Given the description of an element on the screen output the (x, y) to click on. 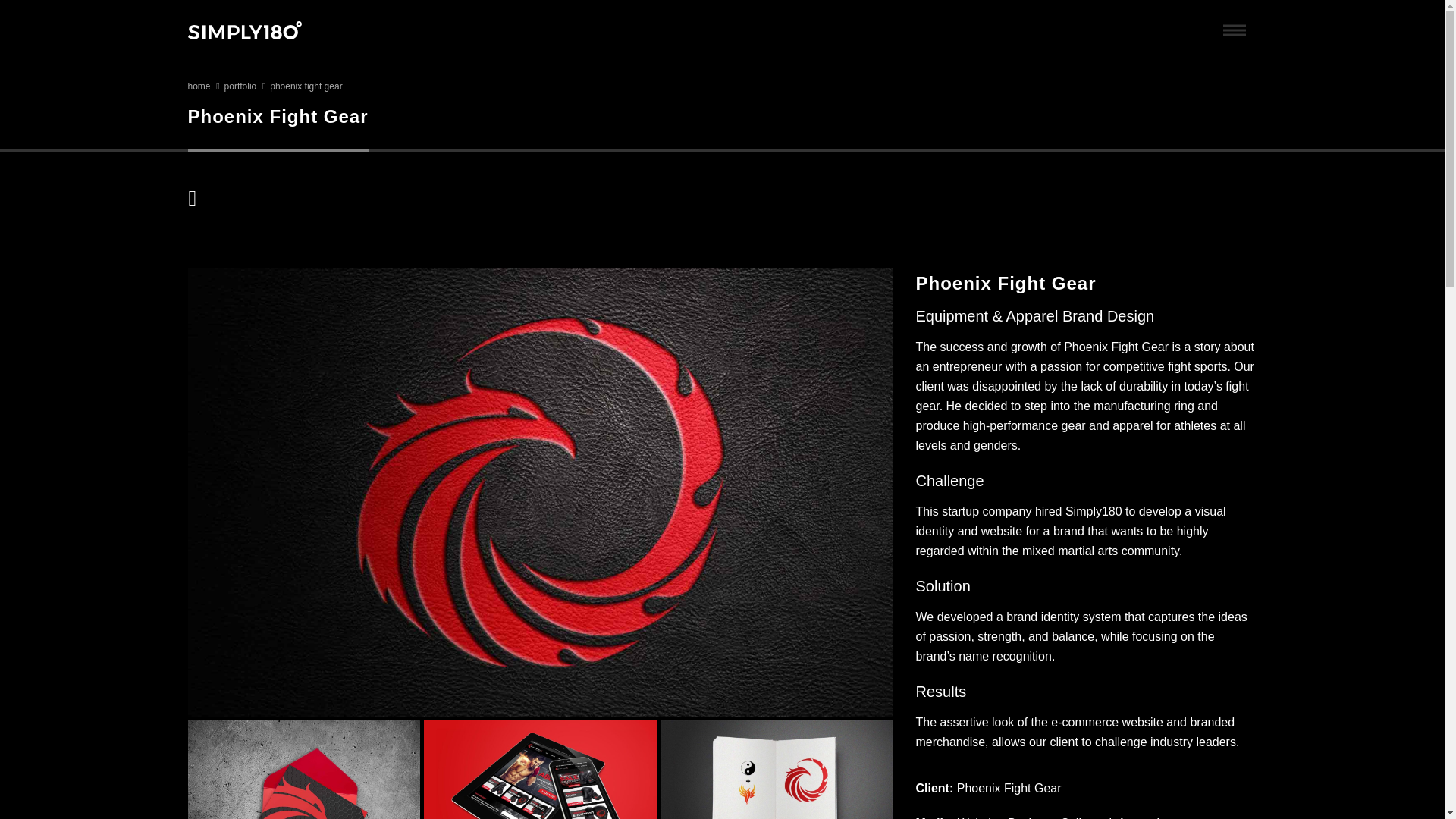
Go to Home Page (199, 86)
portfolio (240, 86)
home (199, 86)
